Given the description of an element on the screen output the (x, y) to click on. 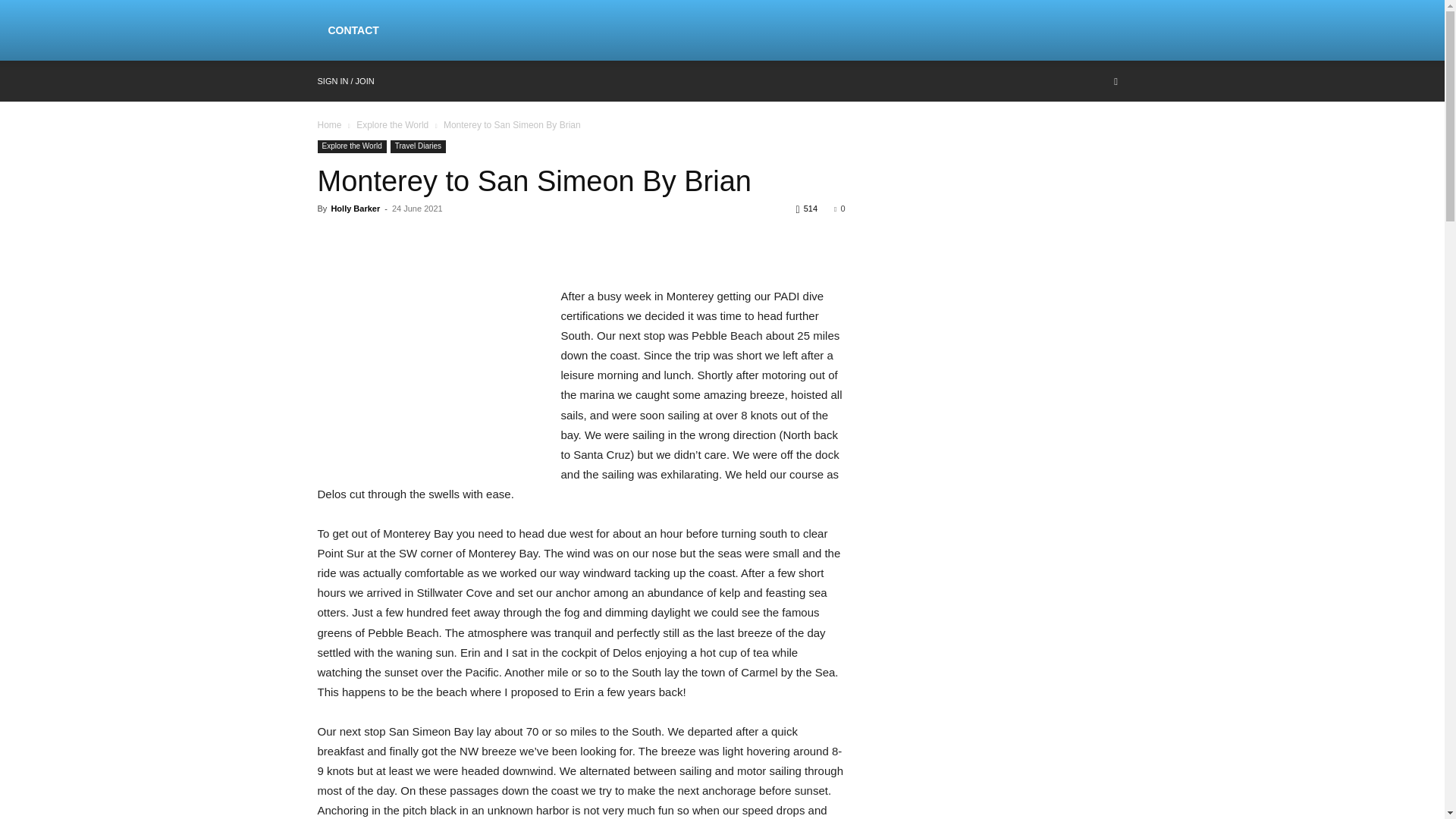
0 (839, 207)
Holly Barker (355, 207)
Home (328, 124)
Search (1085, 144)
View all posts in Explore the World (392, 124)
Explore the World (351, 146)
Travel Diaries (417, 146)
CONTACT (352, 30)
Explore the World (392, 124)
